Given the description of an element on the screen output the (x, y) to click on. 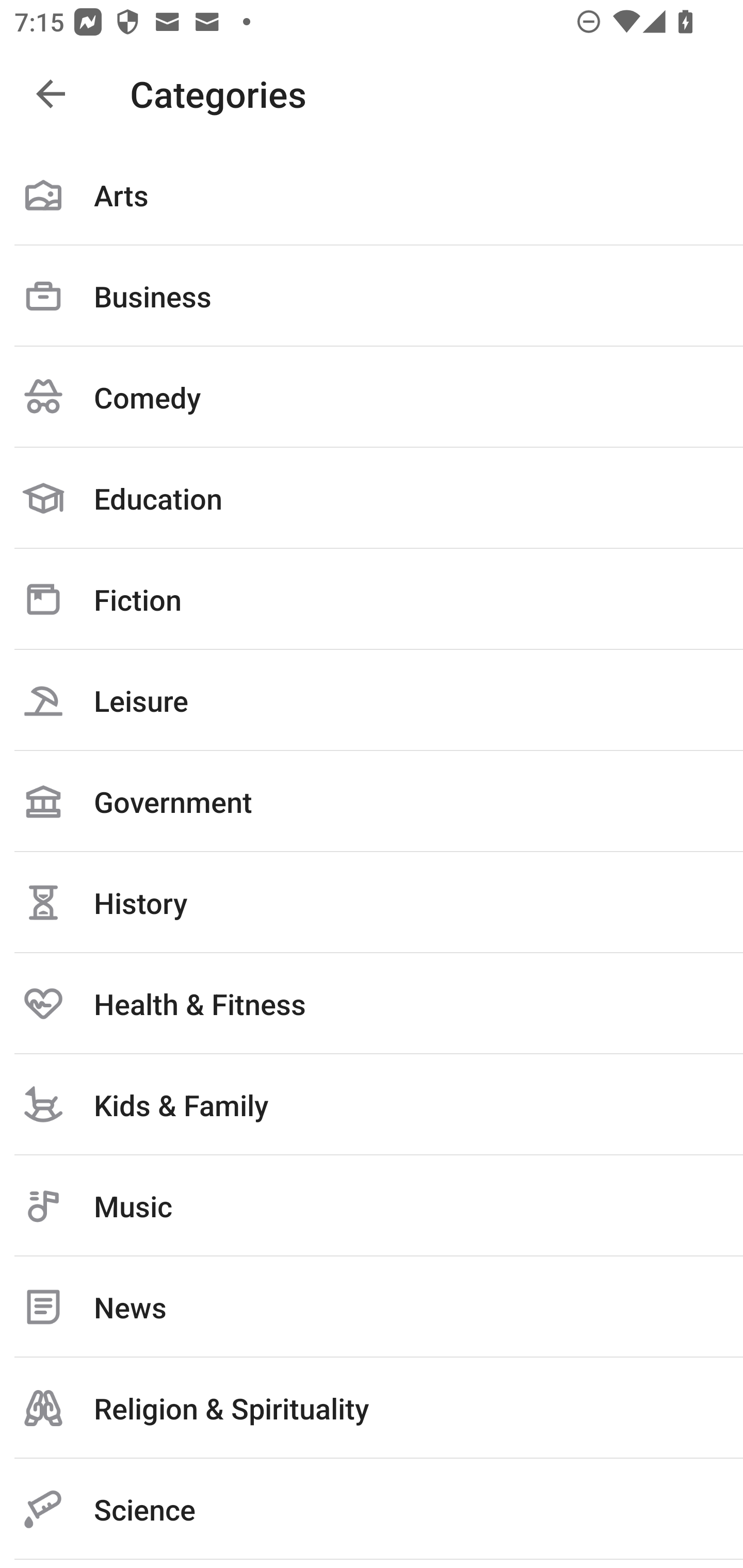
Navigate up (50, 93)
Arts (371, 195)
Business (371, 296)
Comedy (371, 397)
Education (371, 498)
Fiction (371, 598)
Leisure (371, 700)
Government (371, 801)
History (371, 902)
Health & Fitness (371, 1003)
Kids & Family (371, 1104)
Music (371, 1205)
News (371, 1306)
Religion & Spirituality (371, 1407)
Science (371, 1509)
